Given the description of an element on the screen output the (x, y) to click on. 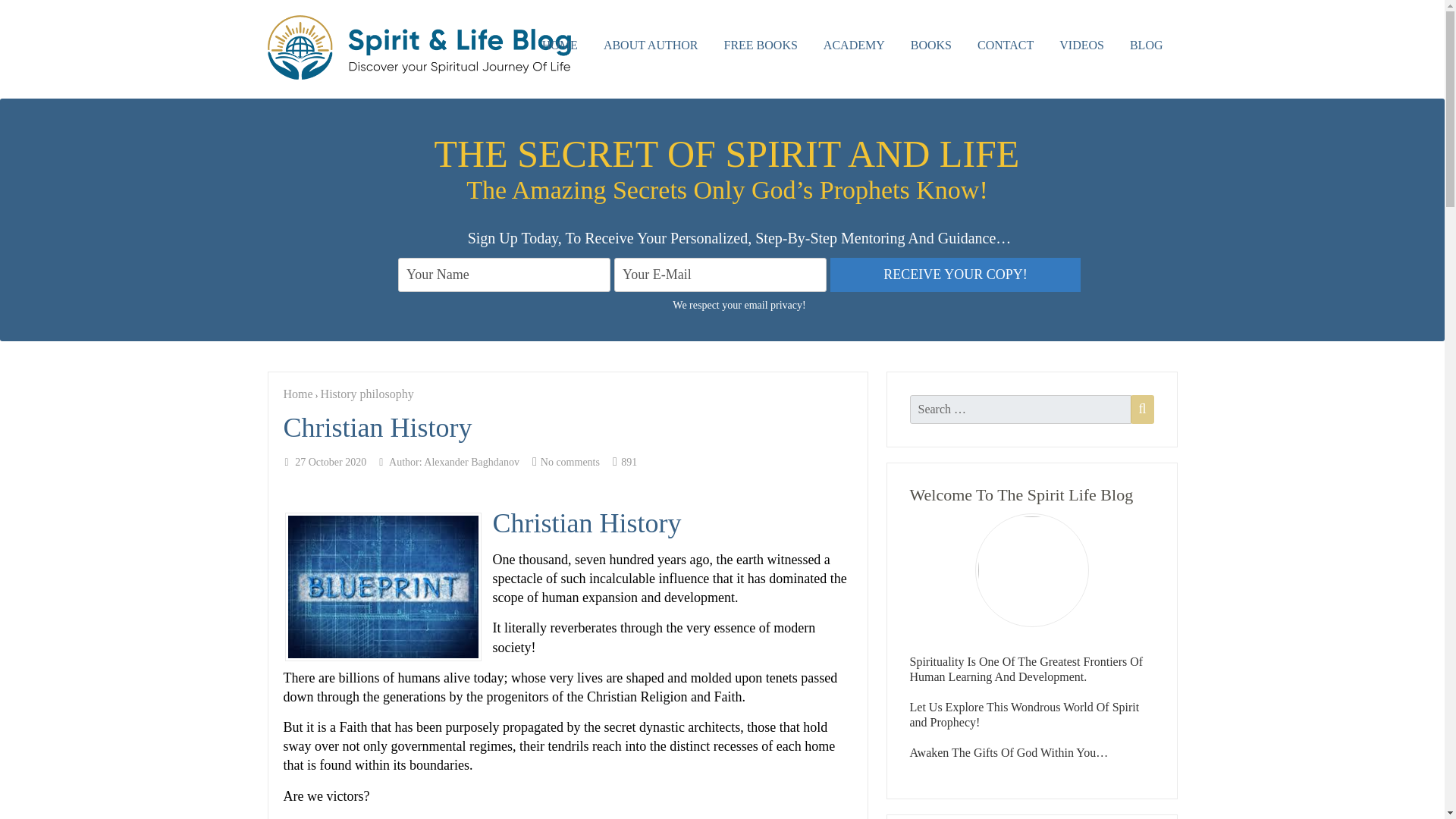
VIDEOS (1081, 45)
ABOUT AUTHOR (651, 45)
CONTACT (1005, 45)
History philosophy (366, 393)
ACADEMY (854, 45)
Home (298, 393)
BOOKS (930, 45)
HOME (560, 45)
Spirit and life blog (418, 39)
FREE BOOKS (761, 45)
